Given the description of an element on the screen output the (x, y) to click on. 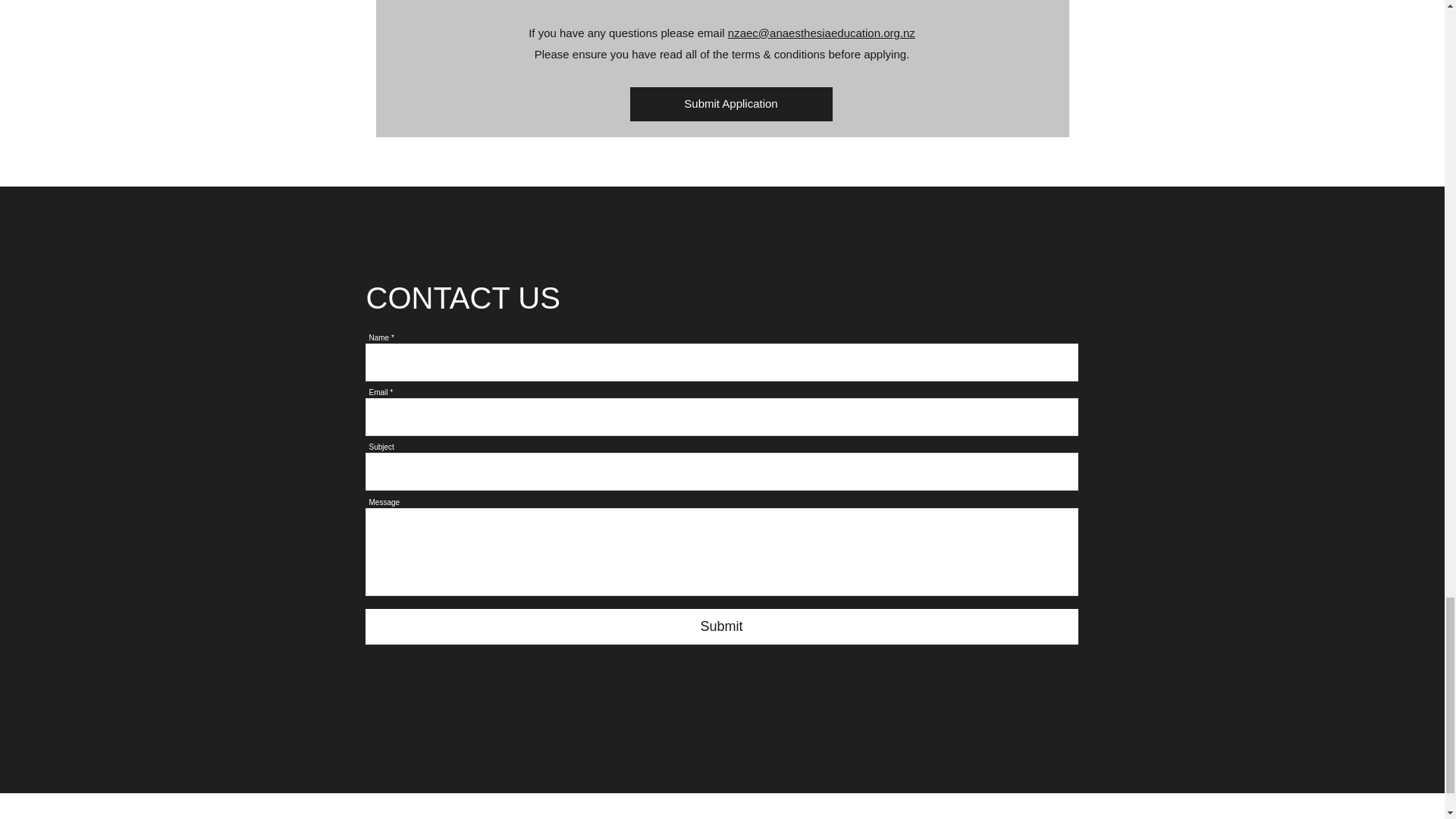
Submit Application (729, 103)
Submit (721, 626)
